Given the description of an element on the screen output the (x, y) to click on. 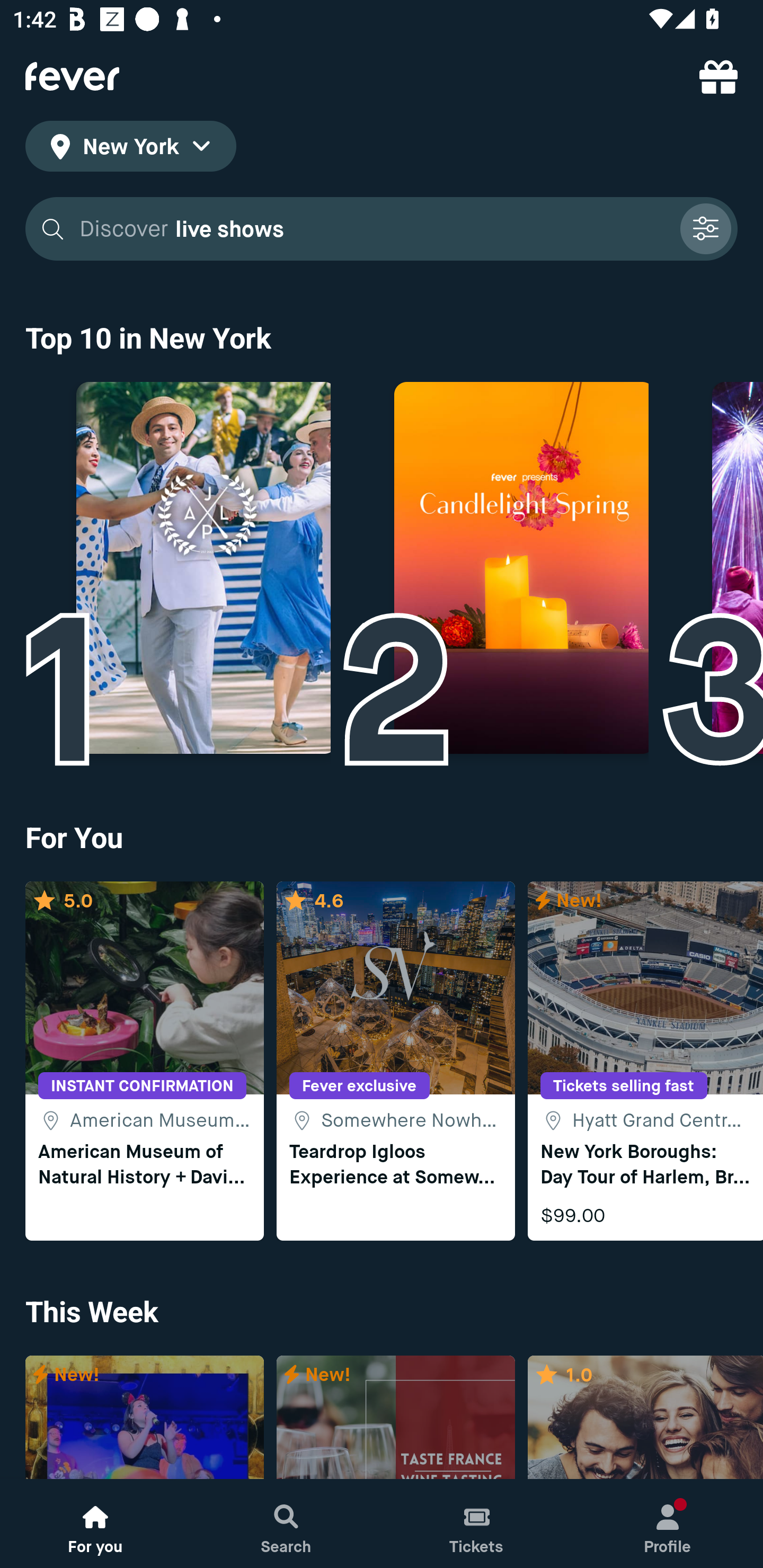
referral (718, 75)
location icon New York location icon (130, 149)
Discover live shows (381, 228)
Discover live shows (373, 228)
cover image New! label New! (144, 1417)
cover image New! label New! (395, 1417)
cover image 50.0 1.0 (645, 1417)
Search (285, 1523)
Tickets (476, 1523)
Profile, New notification Profile (667, 1523)
